Given the description of an element on the screen output the (x, y) to click on. 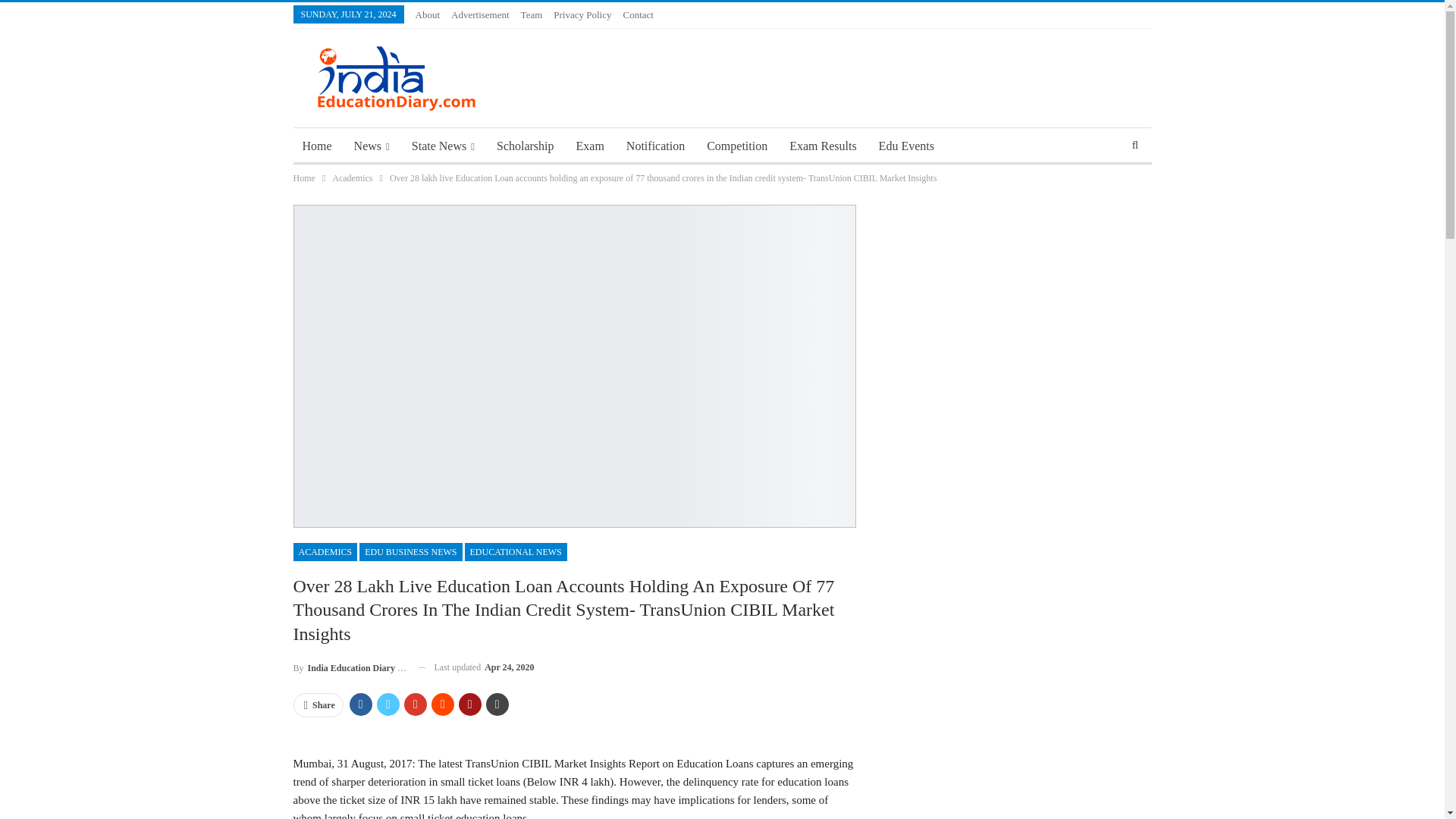
Privacy Policy (582, 14)
Browse Author Articles (349, 667)
Advertisement (480, 14)
News (371, 145)
About (427, 14)
State News (443, 145)
Team (532, 14)
Contact (637, 14)
Home (316, 145)
